Given the description of an element on the screen output the (x, y) to click on. 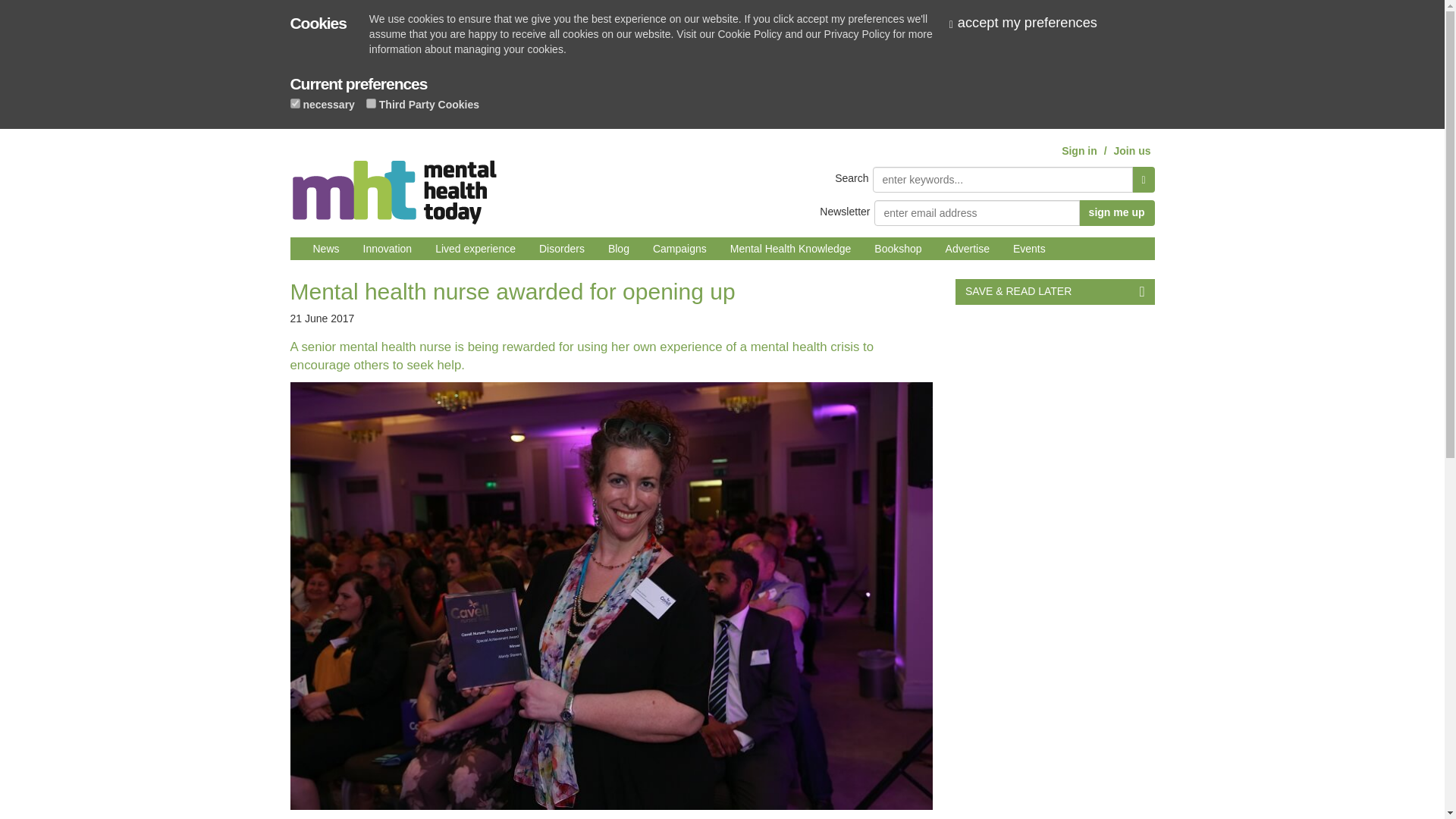
MHT (393, 185)
Disorders (561, 248)
Innovation (387, 248)
Join us (1131, 150)
Sign me up (1116, 212)
Save and read this article later (1054, 291)
Blog (618, 248)
Advertise (967, 248)
Join us (1131, 150)
Third Party Cookies (370, 103)
Sign in to your account (1079, 150)
Sign me up (1116, 212)
Events (1029, 248)
continue (1029, 22)
Sign me up (1116, 212)
